Given the description of an element on the screen output the (x, y) to click on. 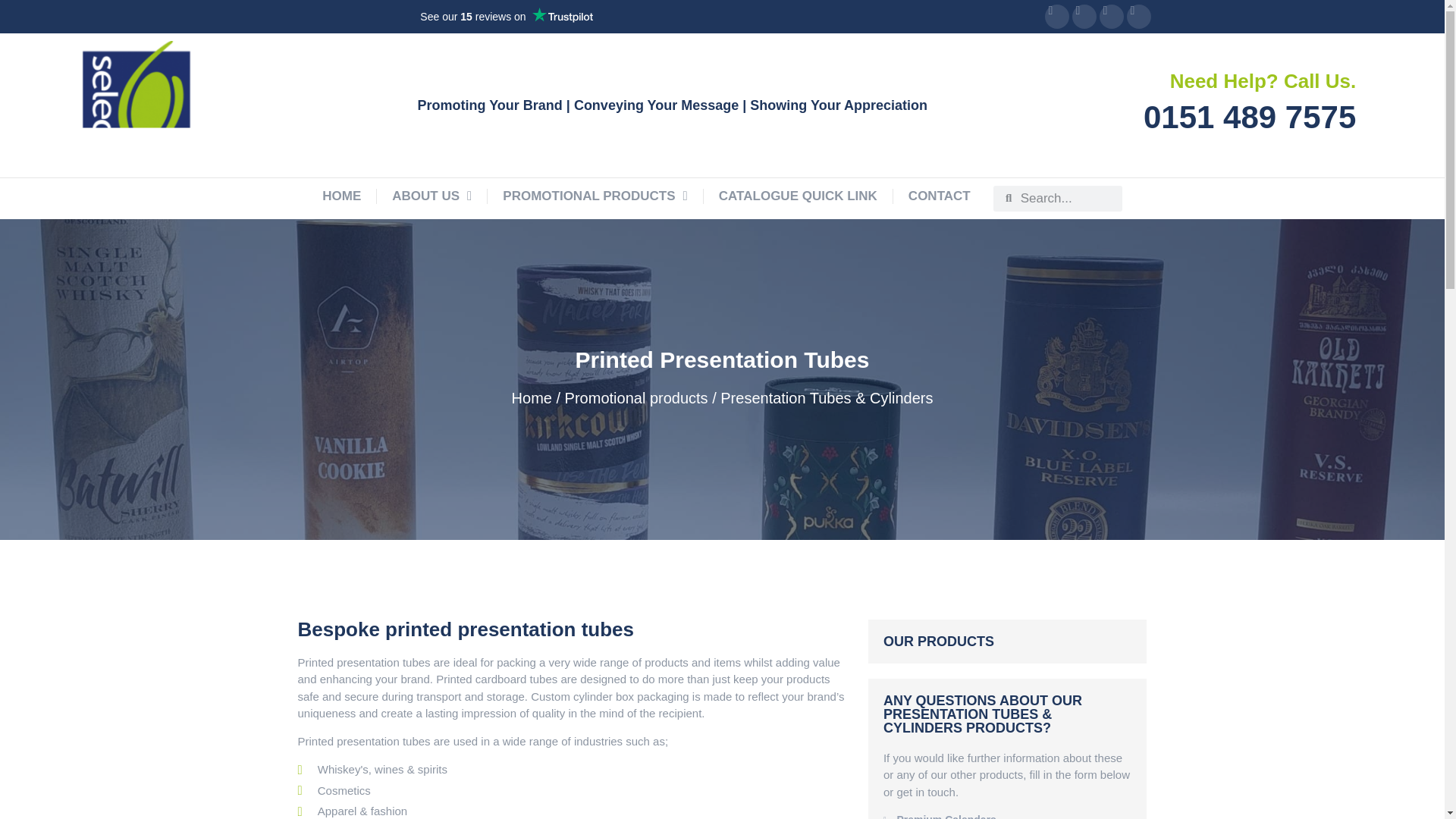
CONTACT (1201, 104)
ABOUT US (939, 196)
PROMOTIONAL PRODUCTS (431, 196)
HOME (594, 196)
CATALOGUE QUICK LINK (341, 196)
Customer reviews powered by Trustpilot (798, 196)
